Given the description of an element on the screen output the (x, y) to click on. 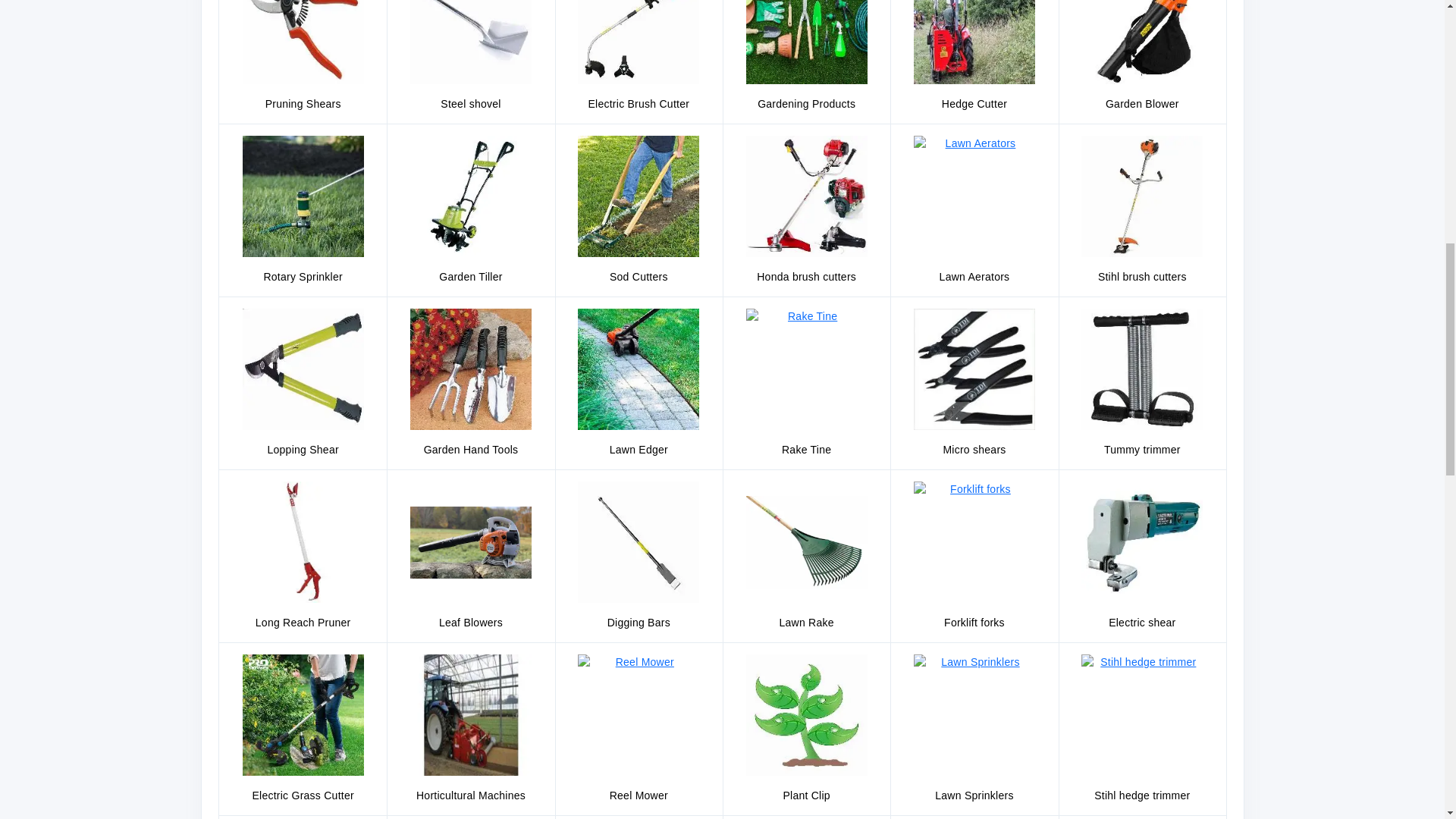
Pruning Shears (303, 42)
